Given the description of an element on the screen output the (x, y) to click on. 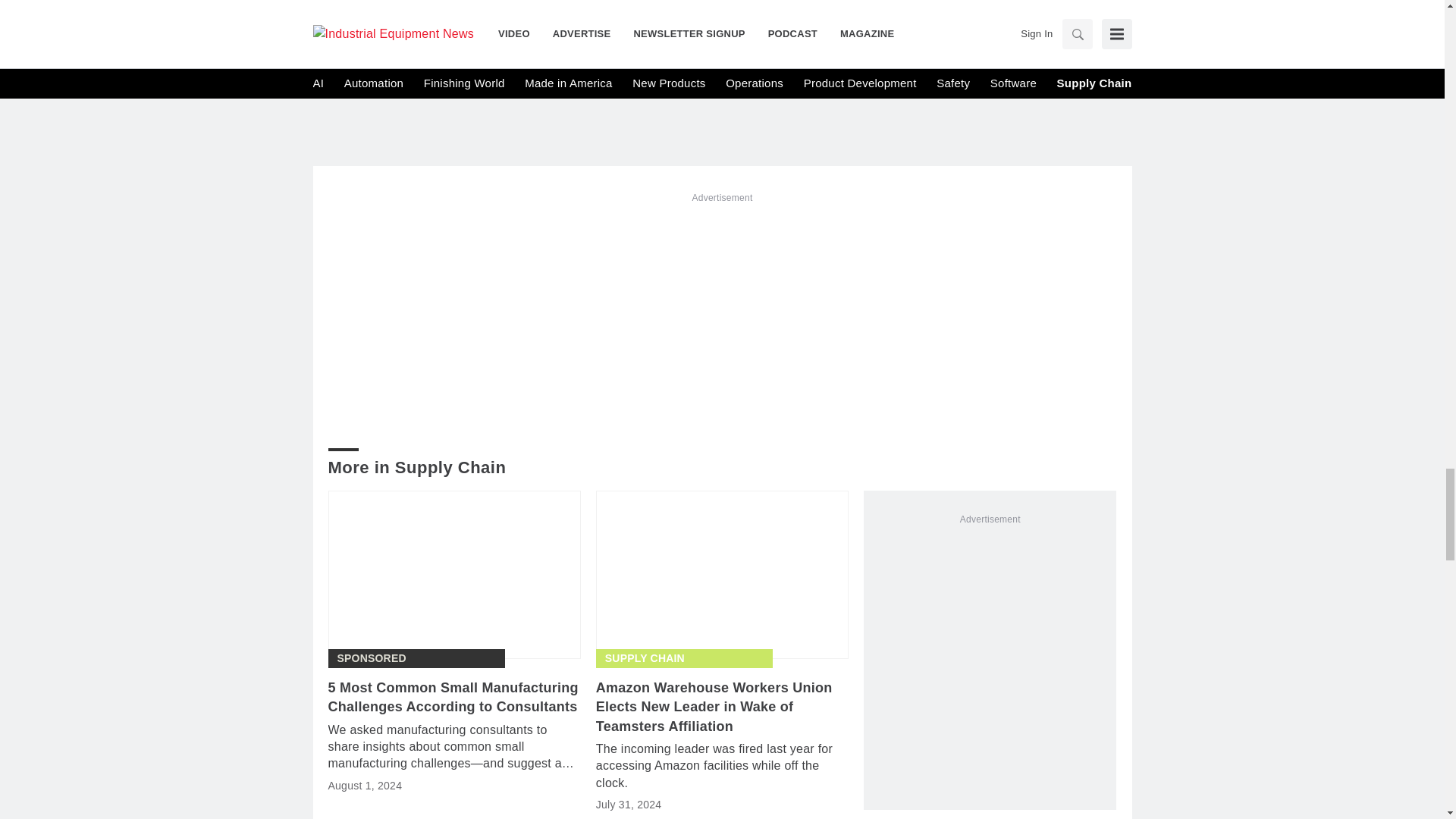
Supply Chain (644, 658)
Sponsored (371, 658)
